Given the description of an element on the screen output the (x, y) to click on. 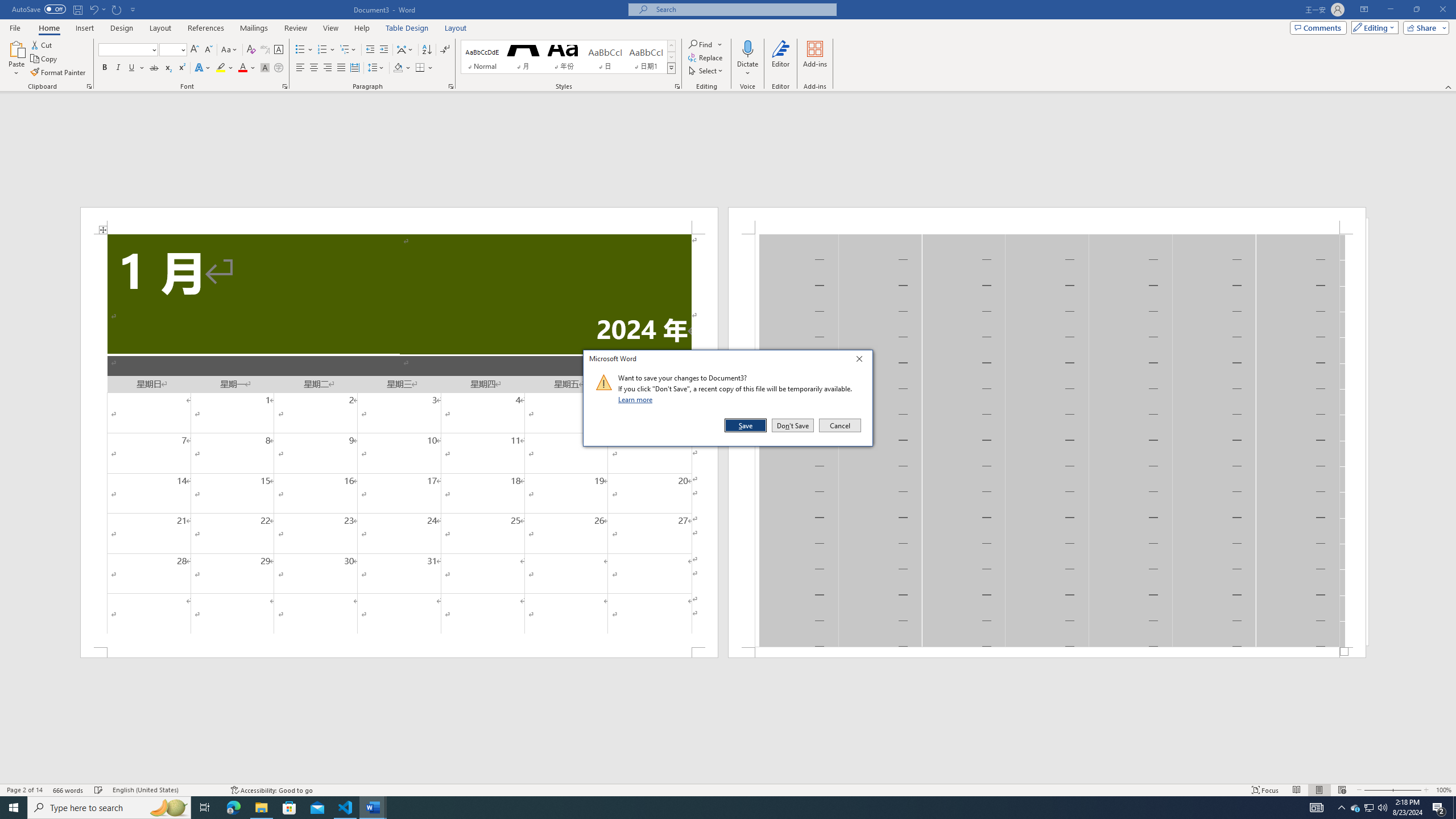
Show/Hide Editing Marks (444, 49)
Enclose Characters... (278, 67)
Class: NetUIScrollBar (728, 778)
Change Case (229, 49)
Shading (402, 67)
Microsoft search (742, 9)
Clear Formatting (250, 49)
Replace... (705, 56)
Word Count 666 words (68, 790)
Notification Chevron (1341, 807)
Action Center, 2 new notifications (1439, 807)
